Given the description of an element on the screen output the (x, y) to click on. 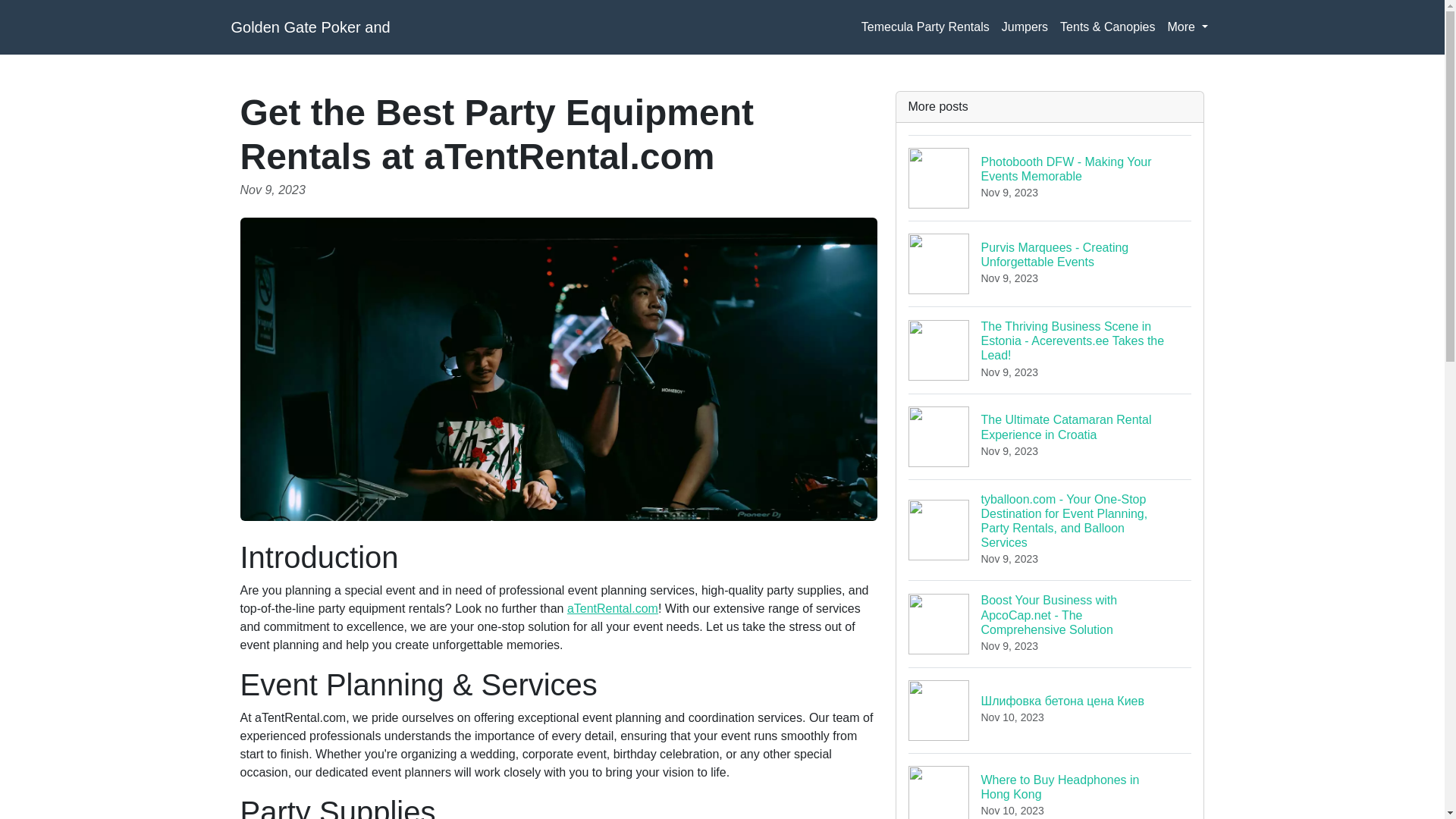
More (1050, 263)
Golden Gate Poker and (1187, 27)
Jumpers (1050, 177)
aTentRental.com (310, 27)
Temecula Party Rentals (1024, 27)
